Given the description of an element on the screen output the (x, y) to click on. 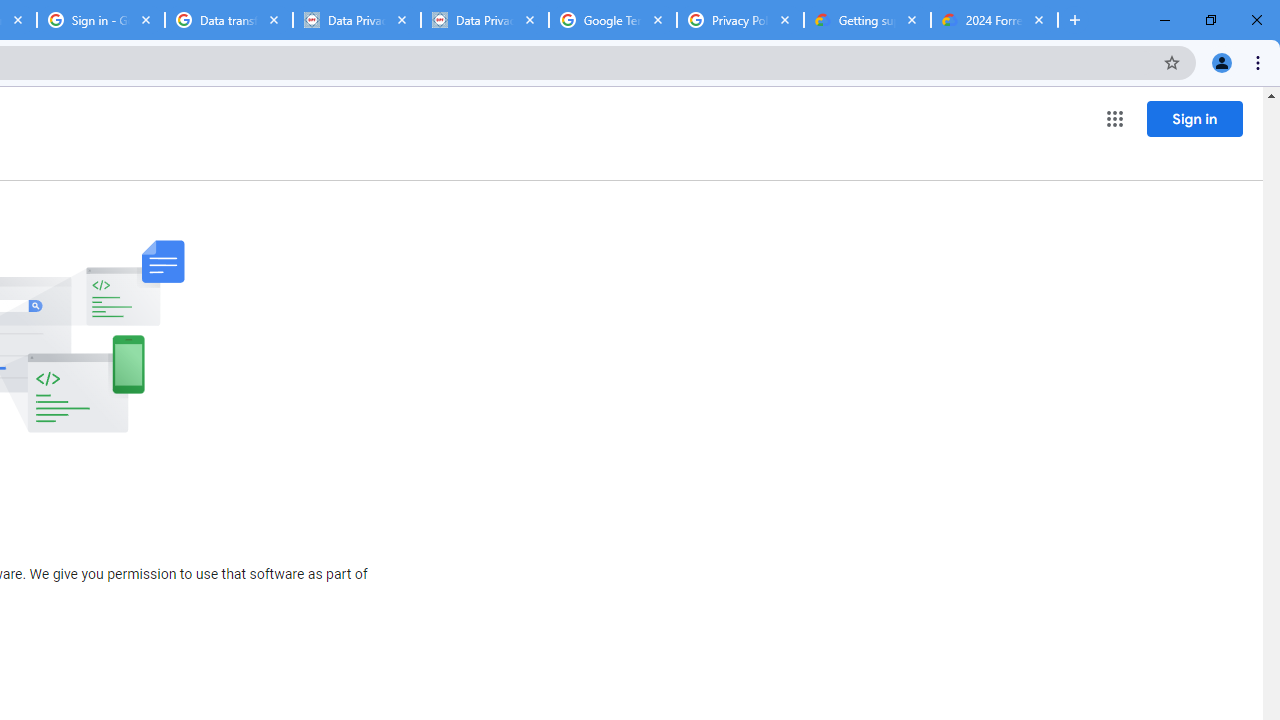
Data Privacy Framework (357, 20)
Data Privacy Framework (485, 20)
Sign in - Google Accounts (101, 20)
